Given the description of an element on the screen output the (x, y) to click on. 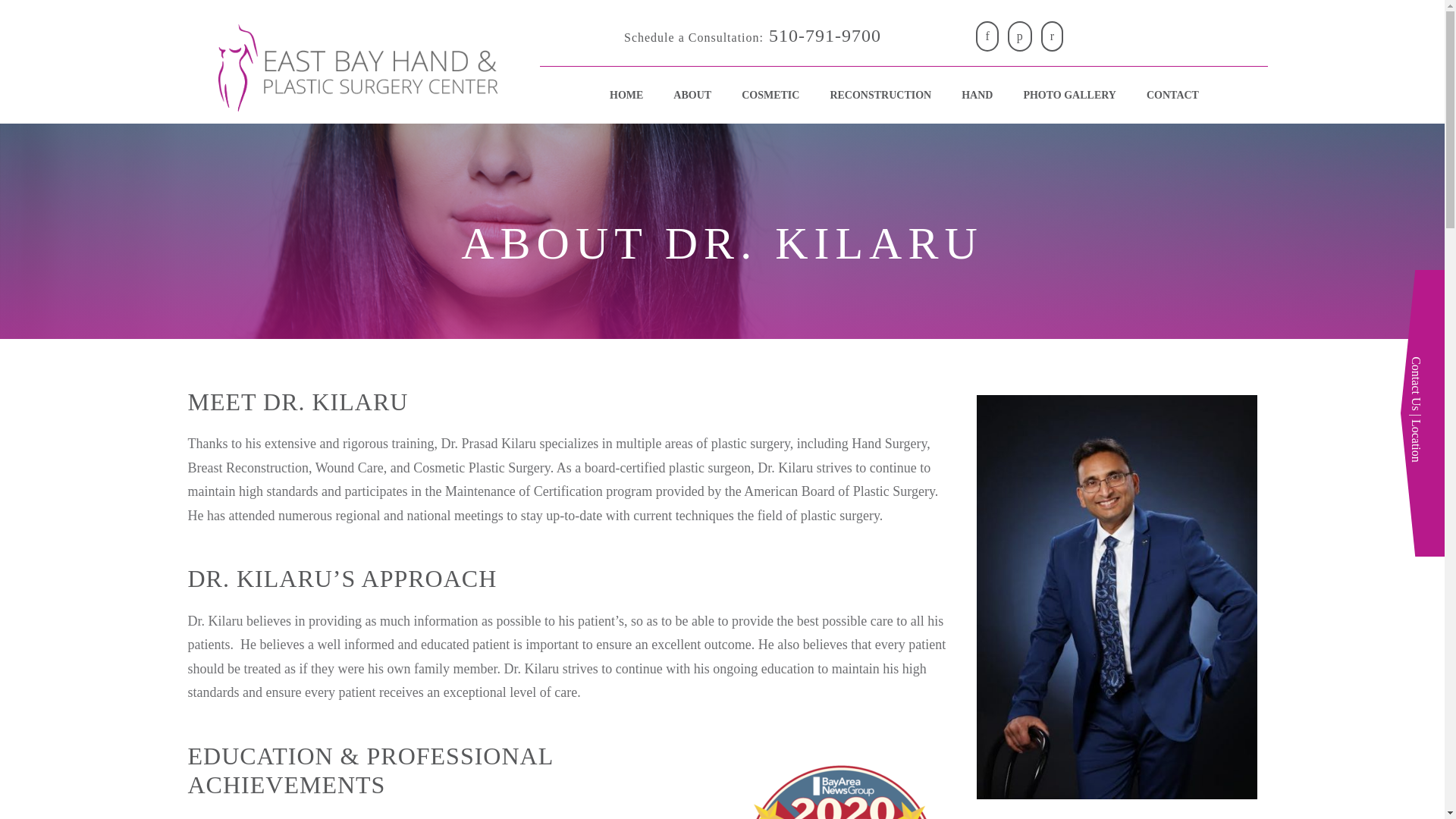
Schedule a Consultation: 510-791-9700 (752, 35)
